Given the description of an element on the screen output the (x, y) to click on. 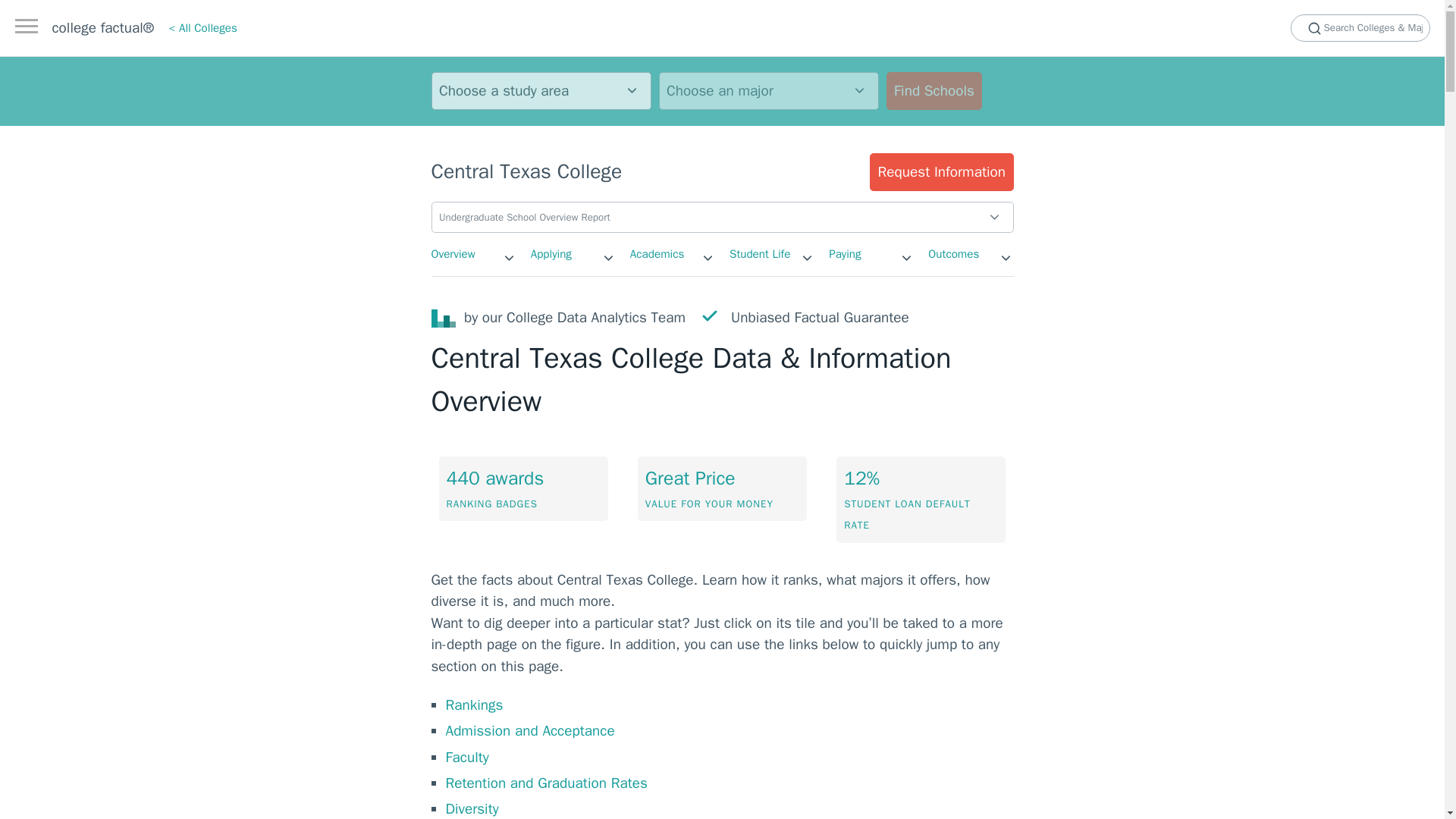
Applying (551, 253)
Academics (657, 253)
Student Life (759, 253)
Paying (844, 253)
Overview (452, 253)
Outcomes (953, 253)
Request Information (941, 171)
Find Schools (933, 90)
